Given the description of an element on the screen output the (x, y) to click on. 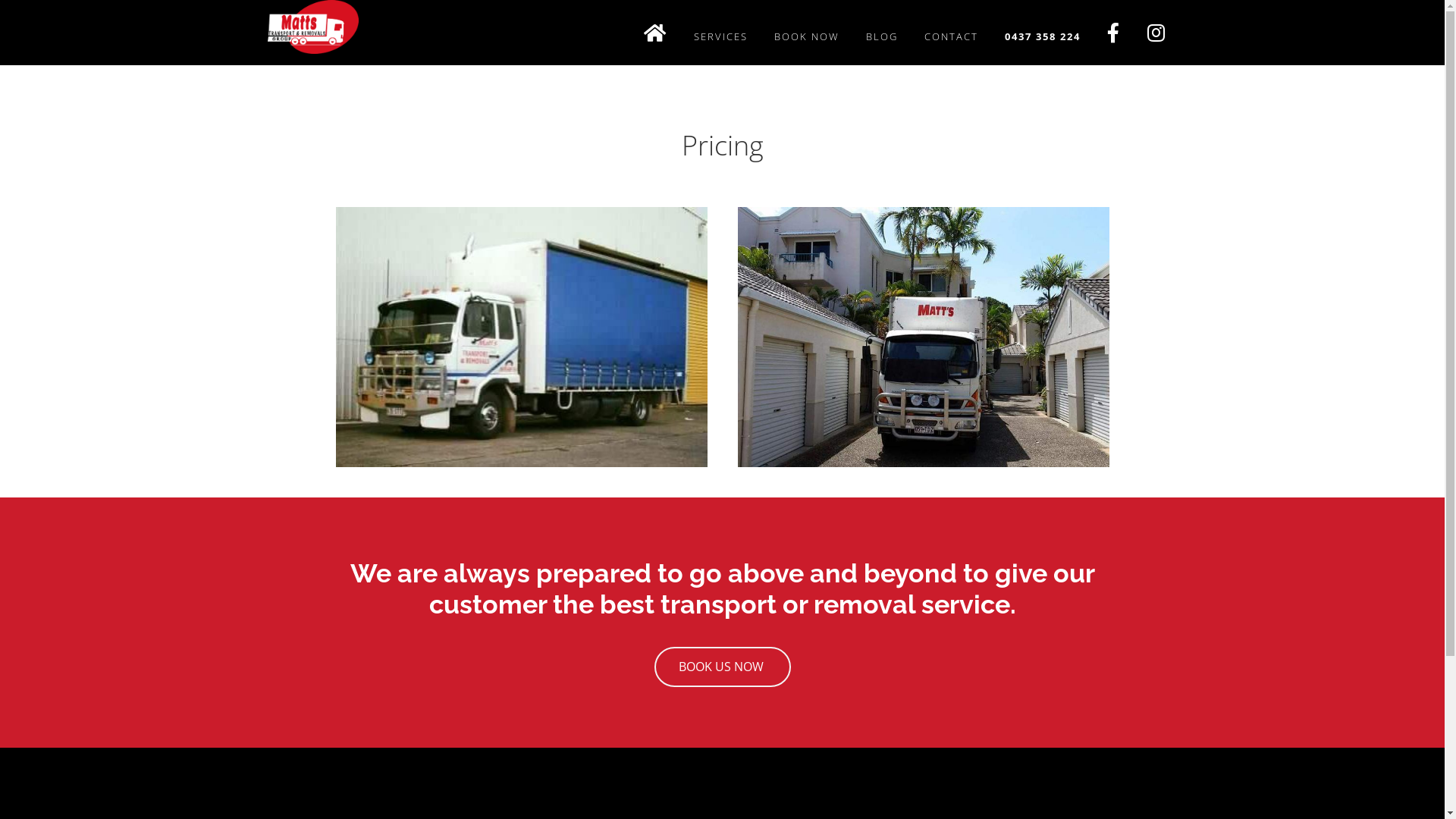
BLOG Element type: text (880, 36)
Skip to primary navigation Element type: text (0, 0)
Matts-Transport-and-Removals-Group-13-landscape Element type: hover (922, 337)
BOOK NOW Element type: text (806, 36)
Matts Transport and Removals Group (18) Element type: hover (520, 337)
BOOK US NOW Element type: text (721, 666)
Matts Transport and Removals Group - Help Is On Its Way Element type: text (311, 28)
SERVICES Element type: text (720, 36)
0437 358 224 Element type: text (1042, 36)
CONTACT Element type: text (951, 36)
